Given the description of an element on the screen output the (x, y) to click on. 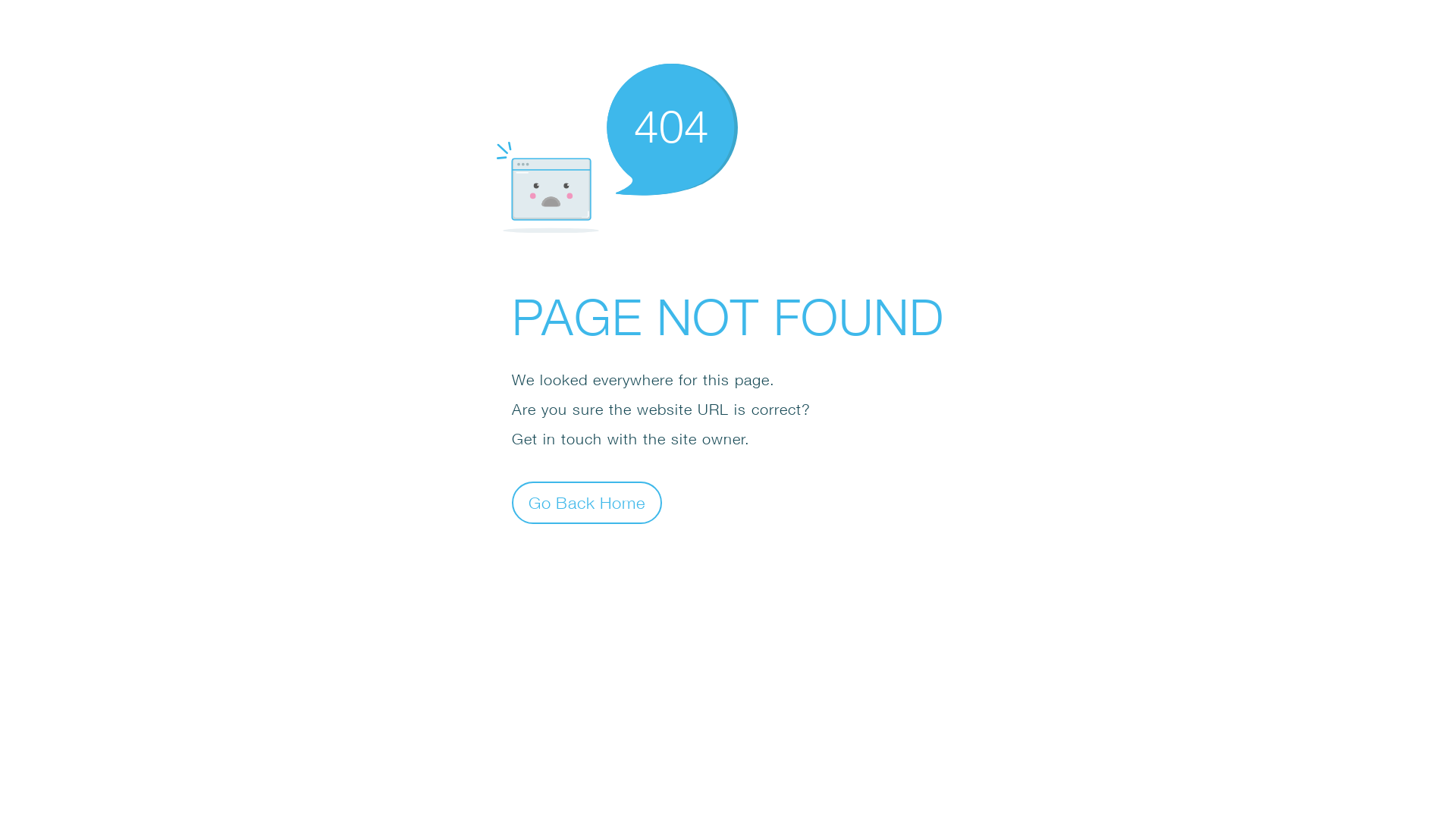
Go Back Home Element type: text (586, 502)
